Given the description of an element on the screen output the (x, y) to click on. 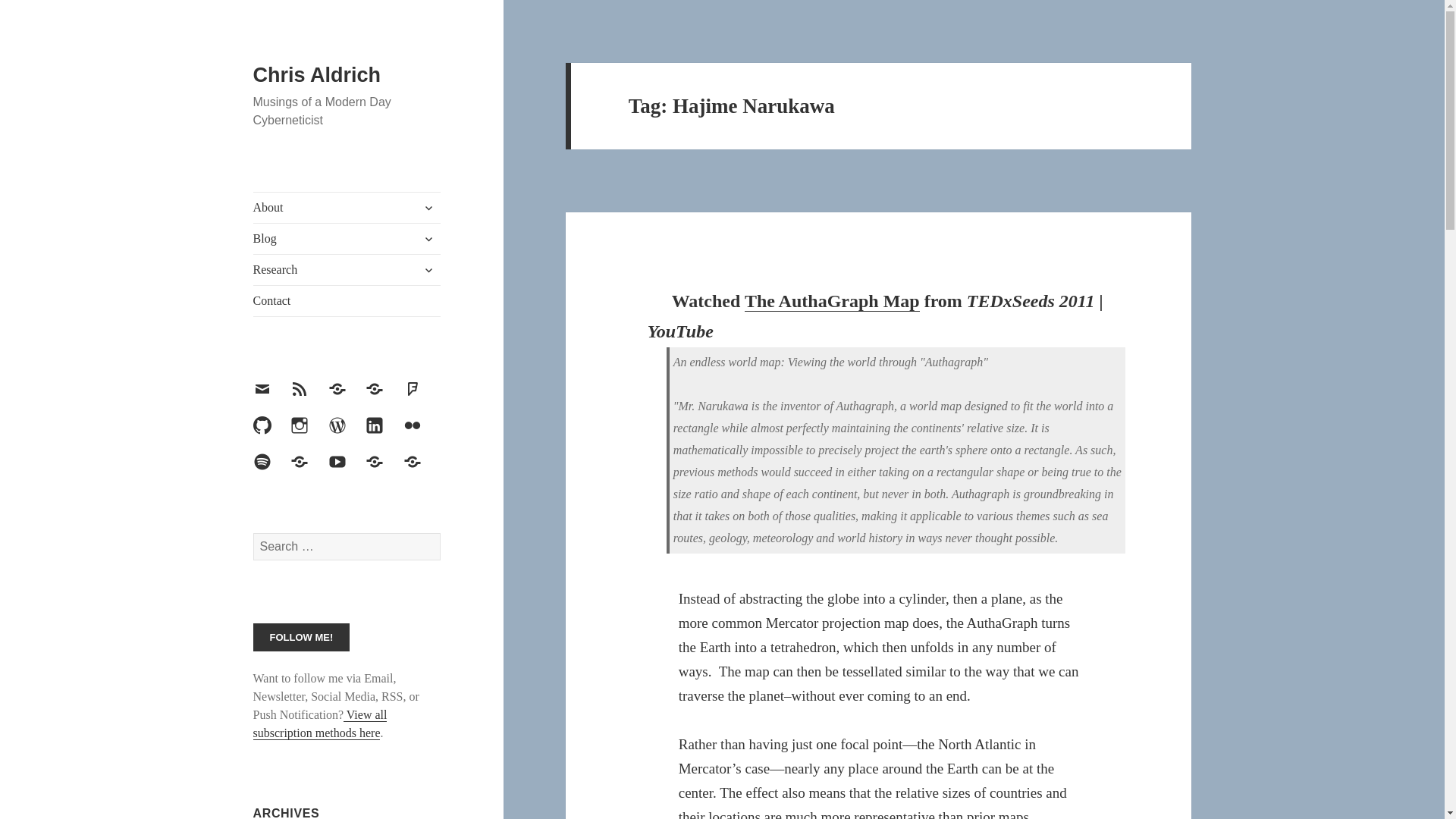
Chris Aldrich (317, 74)
expand child menu (428, 207)
expand child menu (428, 238)
Follow Me! (301, 637)
Blog (347, 238)
About (347, 207)
